Given the description of an element on the screen output the (x, y) to click on. 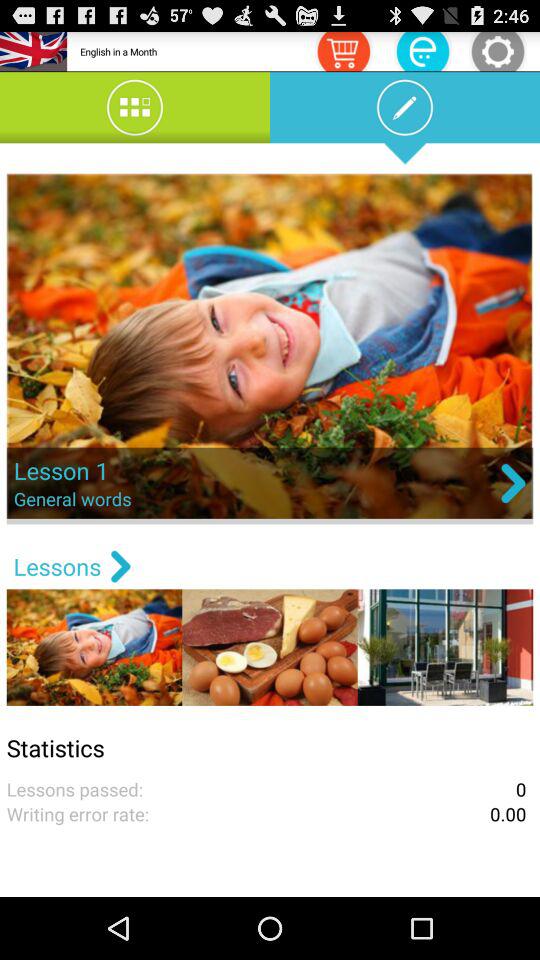
open the icon next to the english in a (343, 50)
